Given the description of an element on the screen output the (x, y) to click on. 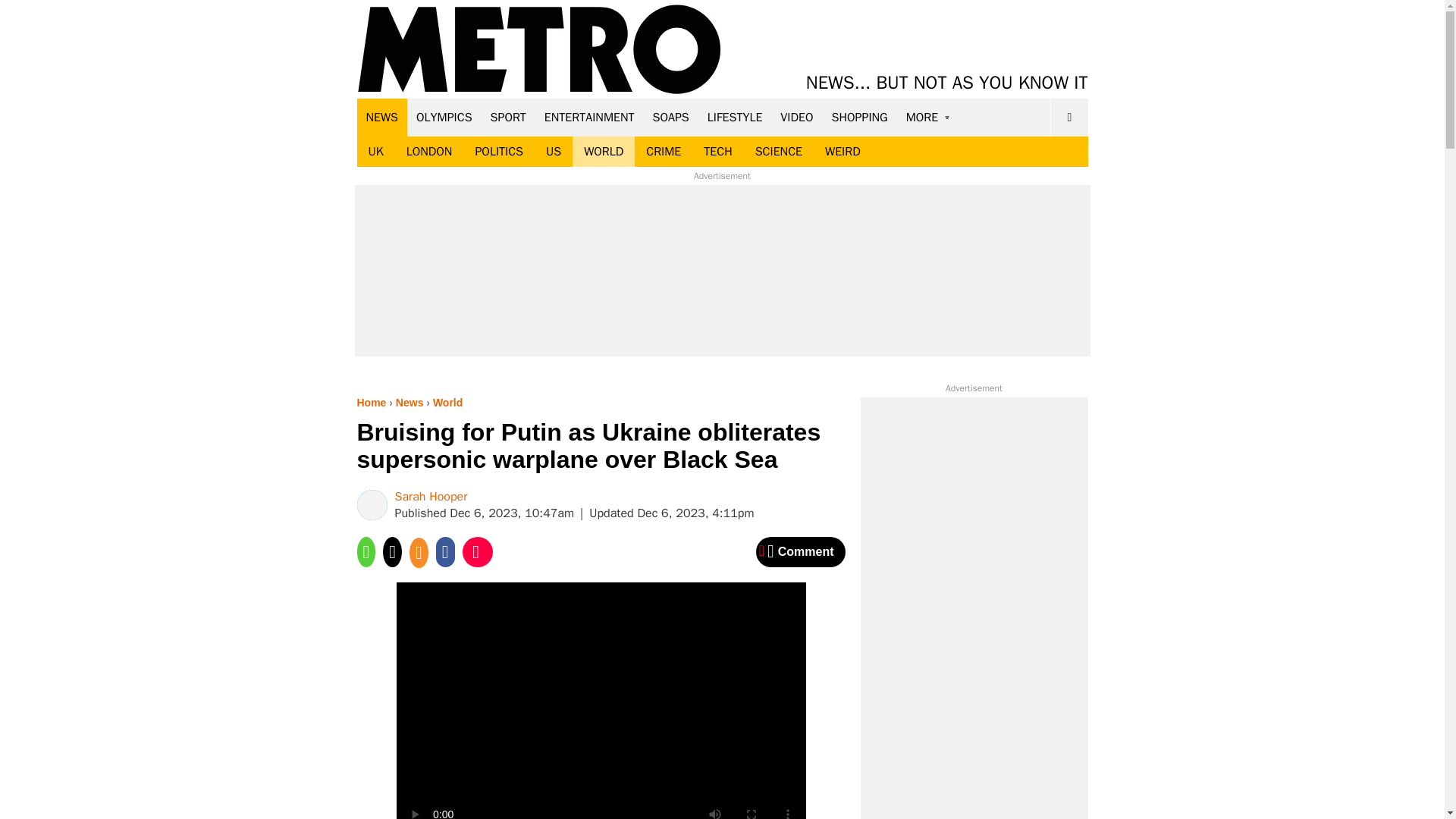
OLYMPICS (444, 117)
LONDON (429, 151)
ENTERTAINMENT (589, 117)
SCIENCE (778, 151)
Metro (539, 50)
WEIRD (842, 151)
CRIME (663, 151)
SOAPS (670, 117)
POLITICS (498, 151)
UK (375, 151)
WORLD (603, 151)
TECH (717, 151)
US (553, 151)
SPORT (508, 117)
NEWS (381, 117)
